Given the description of an element on the screen output the (x, y) to click on. 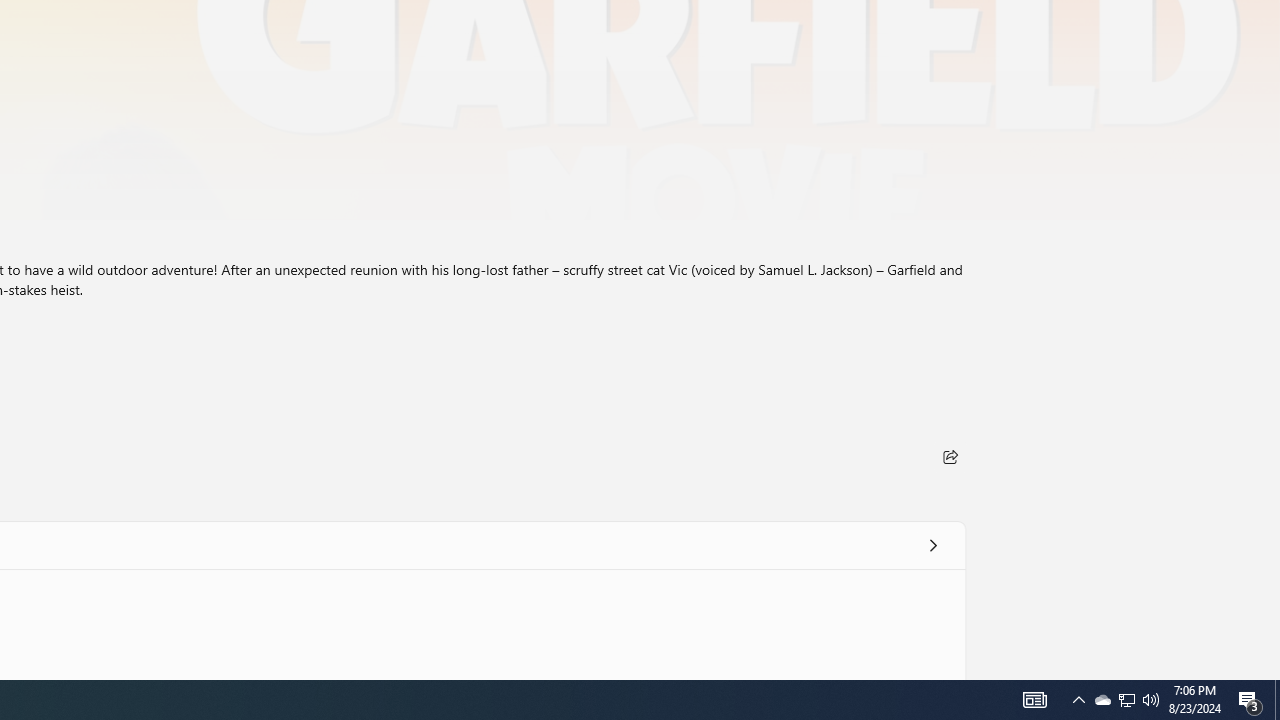
Share (950, 456)
See all (932, 544)
